Given the description of an element on the screen output the (x, y) to click on. 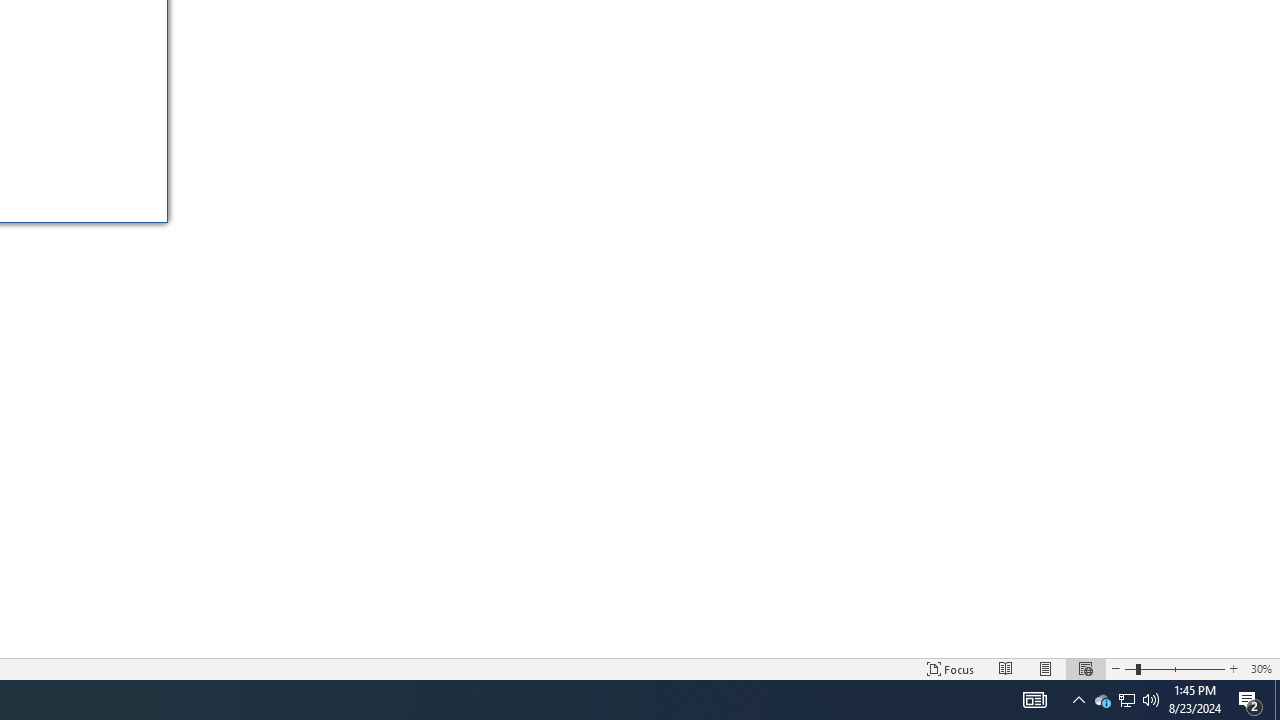
Show desktop (1277, 699)
Notification Chevron (1078, 699)
Zoom In (1233, 668)
Zoom Out (1130, 668)
Action Center, 2 new notifications (1250, 699)
Zoom 30% (1261, 668)
AutomationID: 4105 (1034, 699)
Focus  (951, 668)
Zoom (1174, 668)
User Promoted Notification Area (1126, 699)
Read Mode (1005, 668)
Web Layout (1085, 668)
Q2790: 100% (1102, 699)
